Given the description of an element on the screen output the (x, y) to click on. 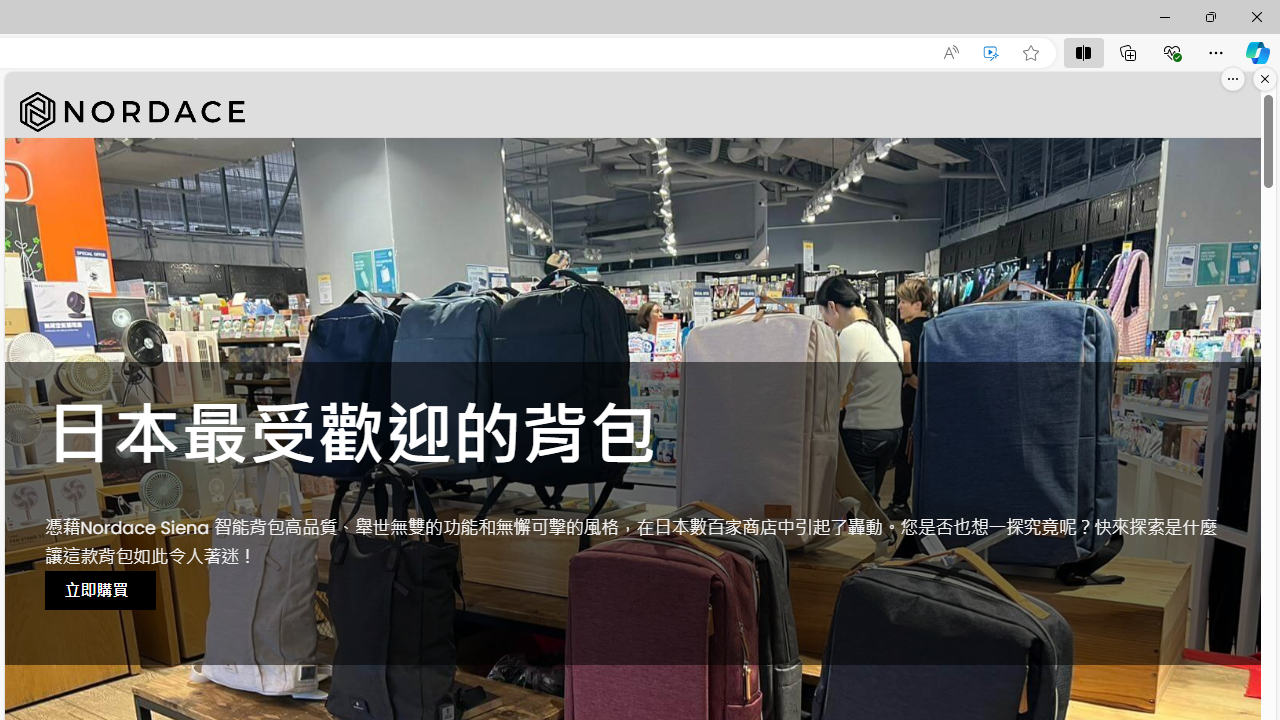
Collections (1128, 52)
Minimize (1164, 16)
Browser essentials (1171, 52)
Add this page to favorites (Ctrl+D) (1030, 53)
Restore (1210, 16)
Nordace (132, 111)
Copilot (Ctrl+Shift+.) (1258, 52)
More options. (1233, 79)
Enhance video (991, 53)
Close (1256, 16)
Read aloud this page (Ctrl+Shift+U) (950, 53)
Settings and more (Alt+F) (1215, 52)
Split screen (1083, 52)
